Given the description of an element on the screen output the (x, y) to click on. 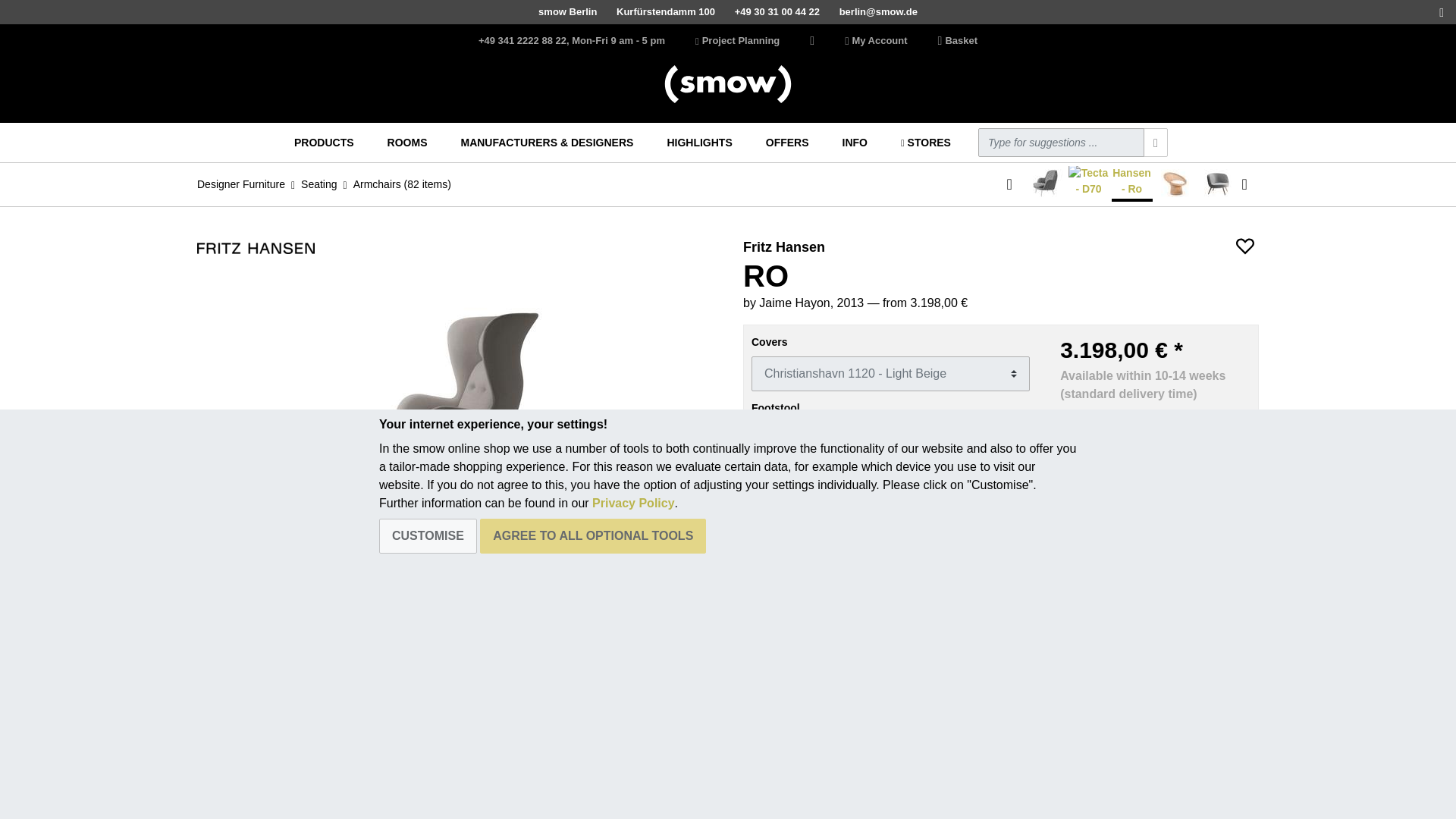
1 (890, 505)
STORES (925, 142)
Basket (956, 40)
Privacy Policy (633, 502)
PRODUCTS (323, 142)
Project Planning (736, 40)
My Account (875, 40)
AGREE TO ALL OPTIONAL TOOLS (593, 535)
CUSTOMISE (427, 535)
HIGHLIGHTS (699, 142)
INFO (854, 142)
Back to homepage - smow online shop (727, 84)
OFFERS (787, 142)
ROOMS (407, 142)
